Given the description of an element on the screen output the (x, y) to click on. 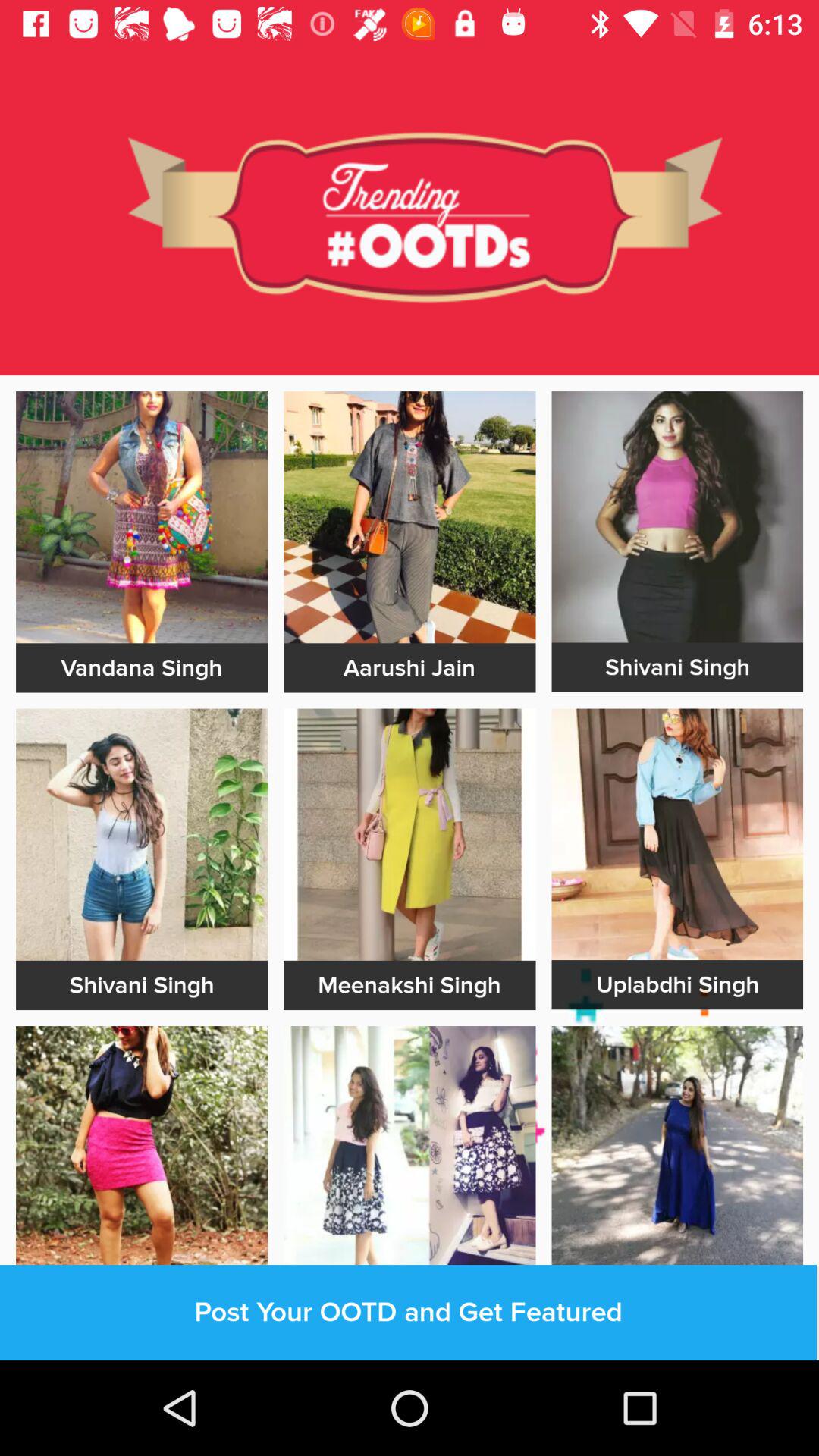
photos editing (409, 834)
